Given the description of an element on the screen output the (x, y) to click on. 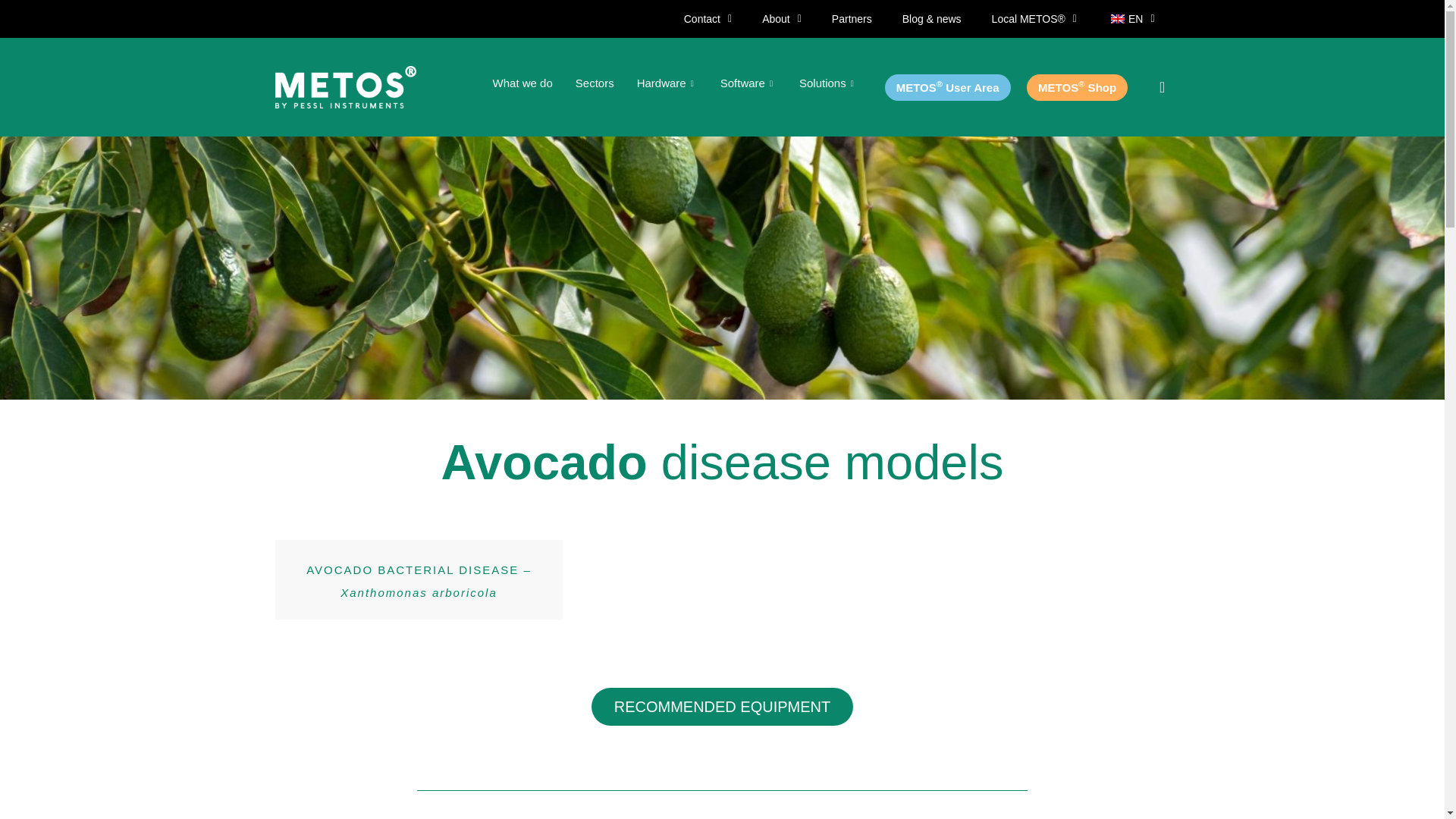
Partners (851, 18)
EN (1131, 18)
About (781, 18)
Contact (707, 18)
English (1117, 18)
